Given the description of an element on the screen output the (x, y) to click on. 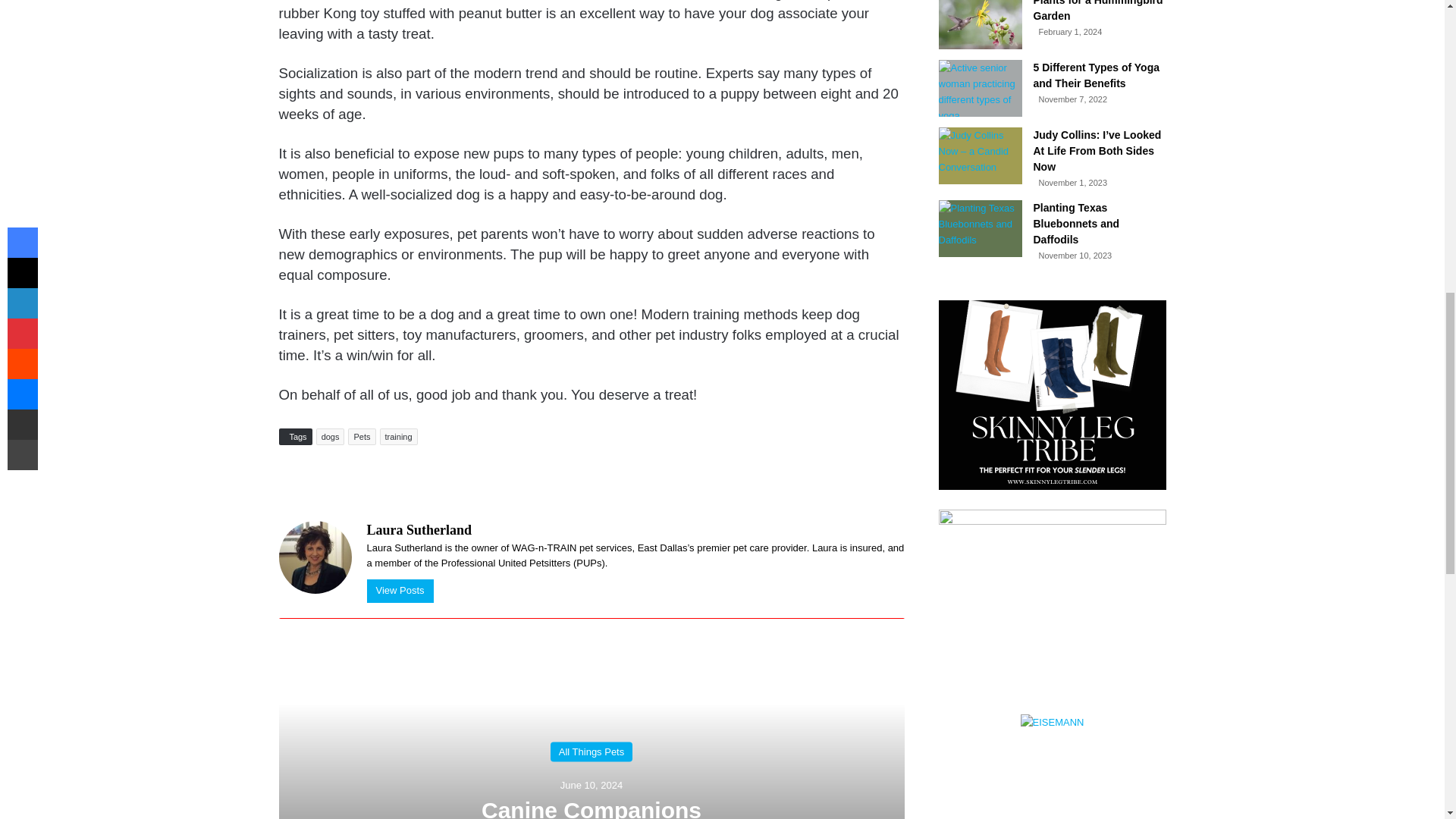
Judy Collins: I've Looked At Life From Both Sides Now 10 (980, 155)
5 Different Types of Yoga and Their Benefits 9 (980, 88)
Plants for a Hummingbird Garden 8 (980, 24)
